Given the description of an element on the screen output the (x, y) to click on. 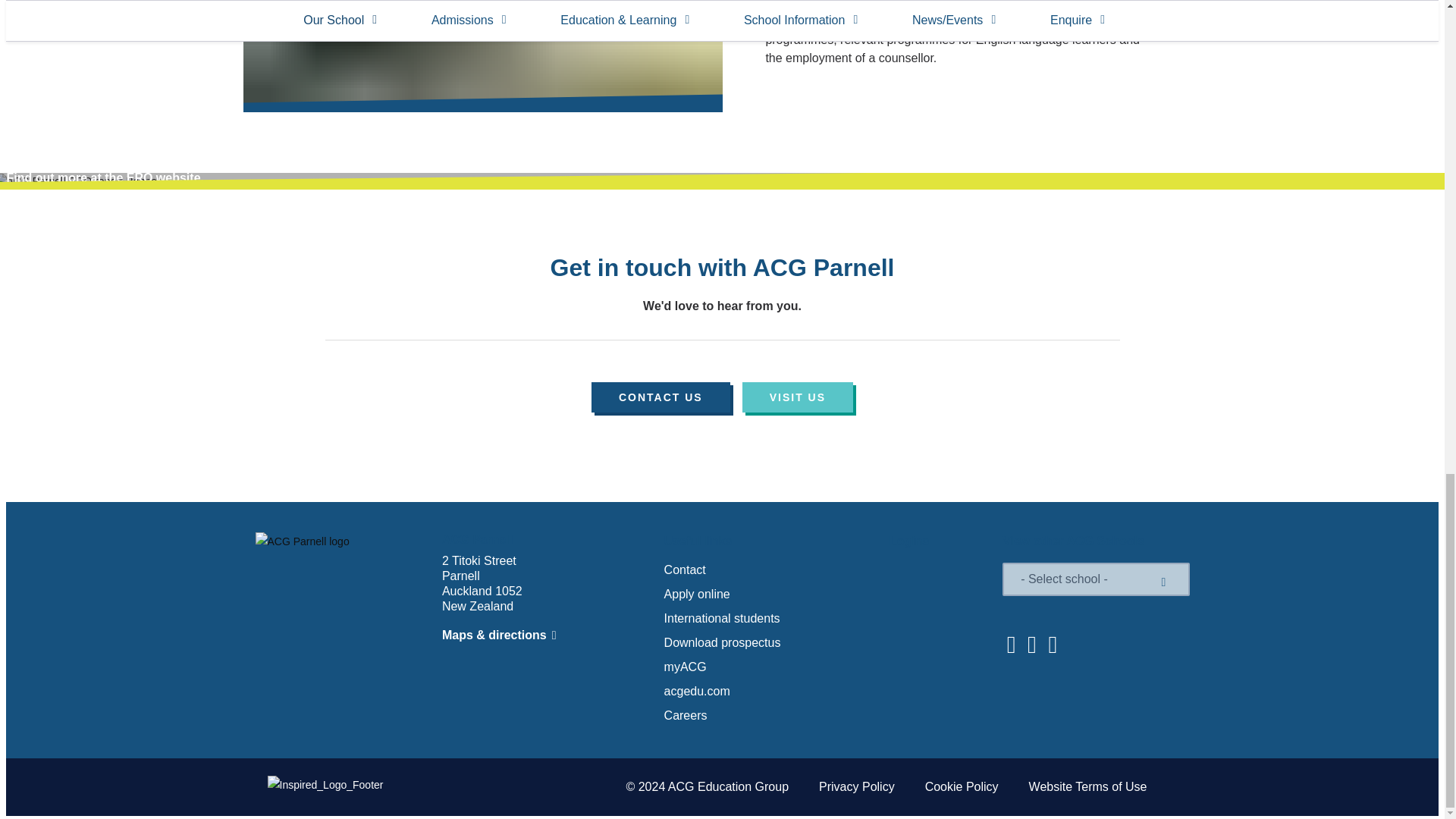
ACG Parnell-ERO report-positive-outcomes (482, 56)
